Given the description of an element on the screen output the (x, y) to click on. 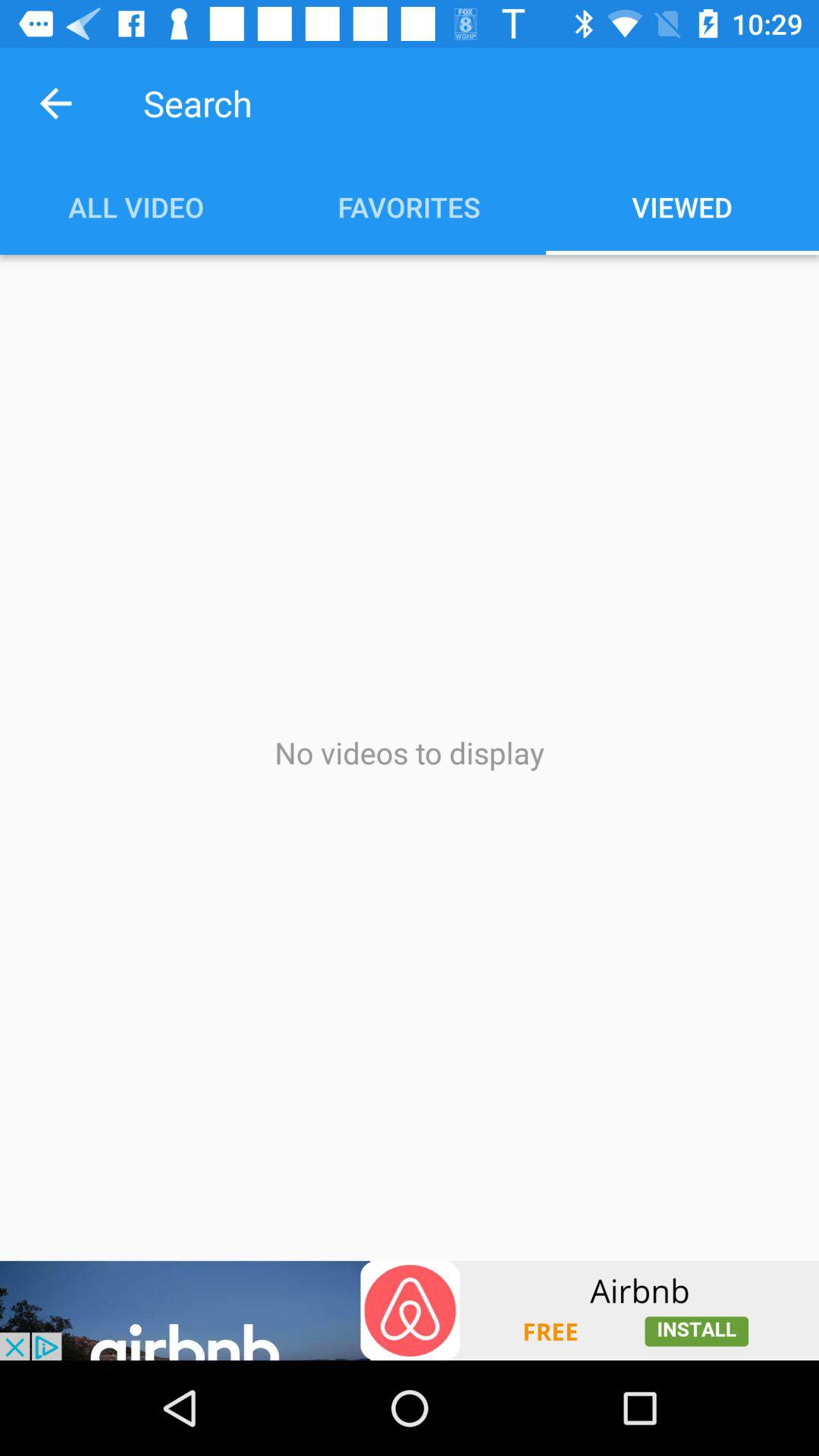
search box (429, 103)
